Given the description of an element on the screen output the (x, y) to click on. 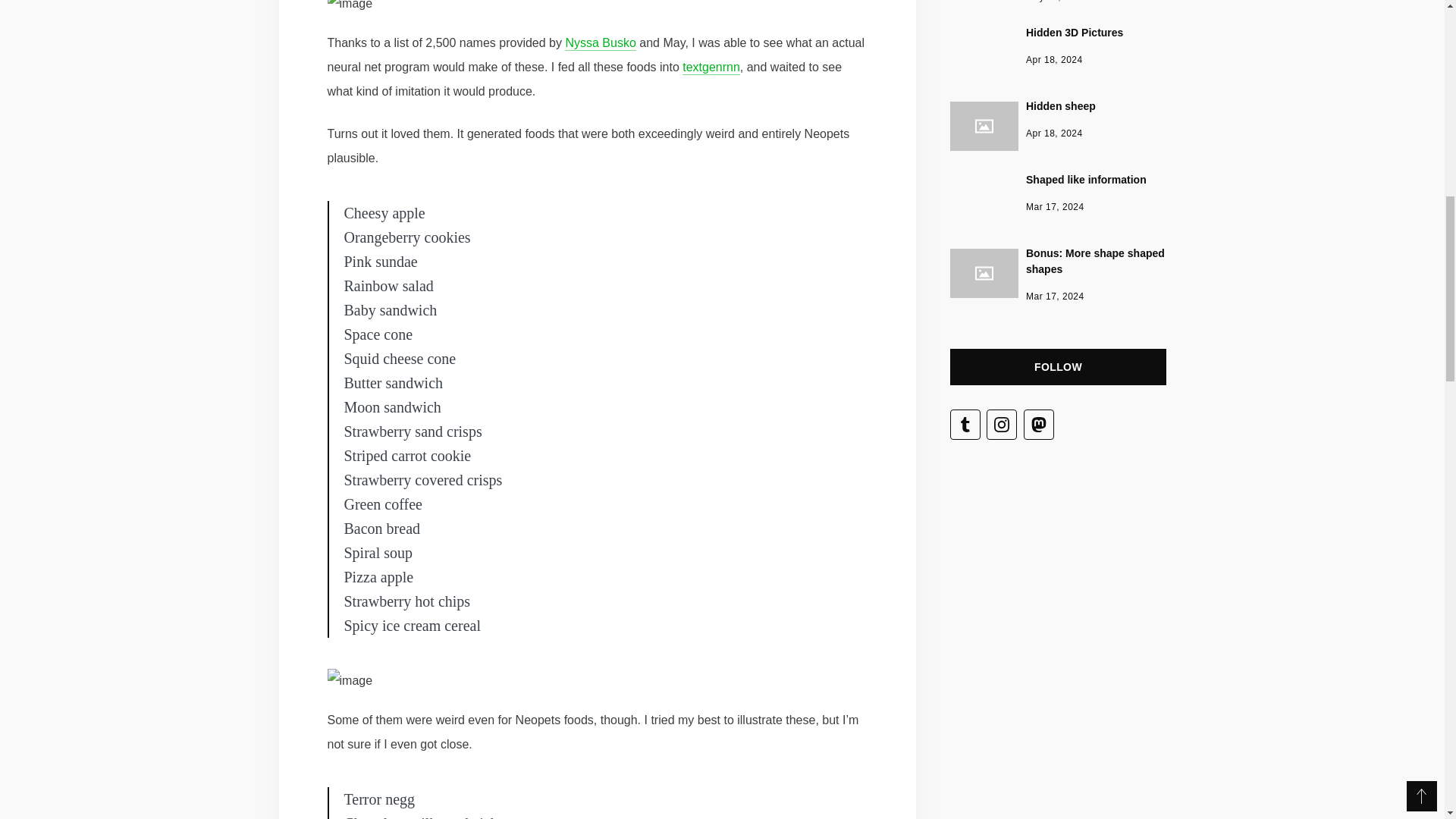
image (1057, 192)
Nyssa Busko (349, 7)
textgenrnn (1057, 2)
image (1057, 119)
